Given the description of an element on the screen output the (x, y) to click on. 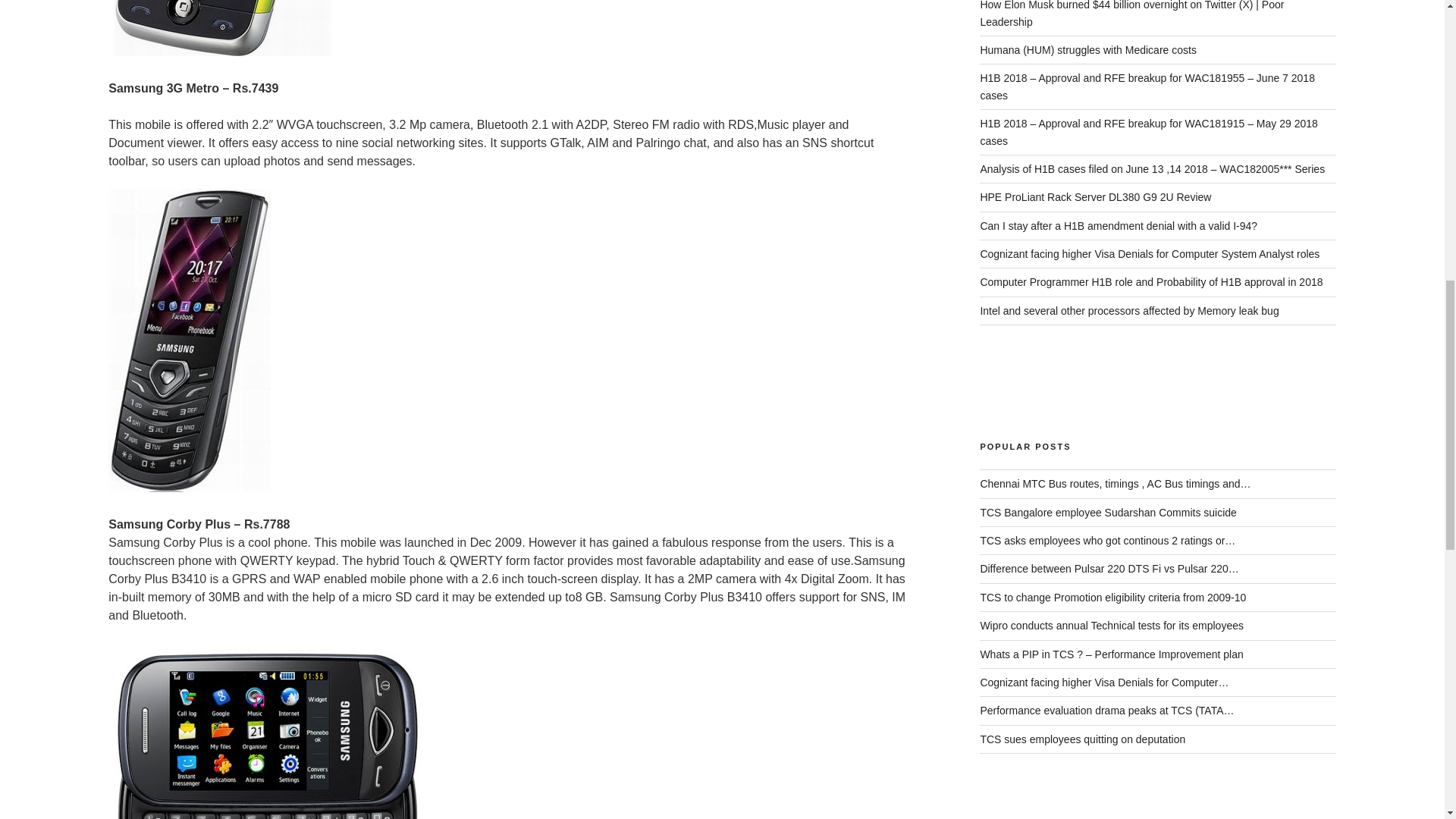
LG-Cookie-Fresh-GS290-official (221, 28)
